Given the description of an element on the screen output the (x, y) to click on. 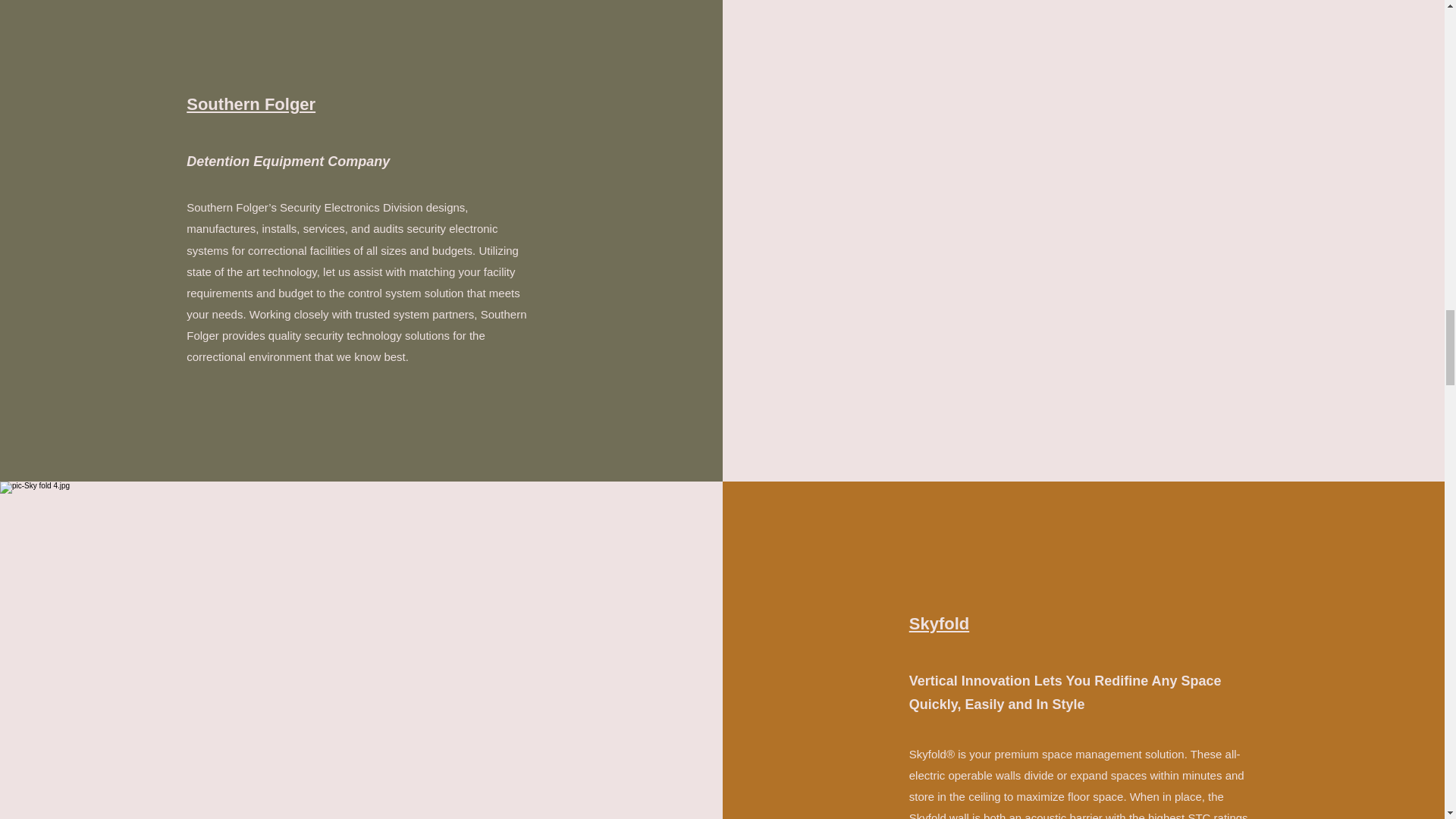
Skyfold (938, 623)
Southern Folger (250, 104)
